Given the description of an element on the screen output the (x, y) to click on. 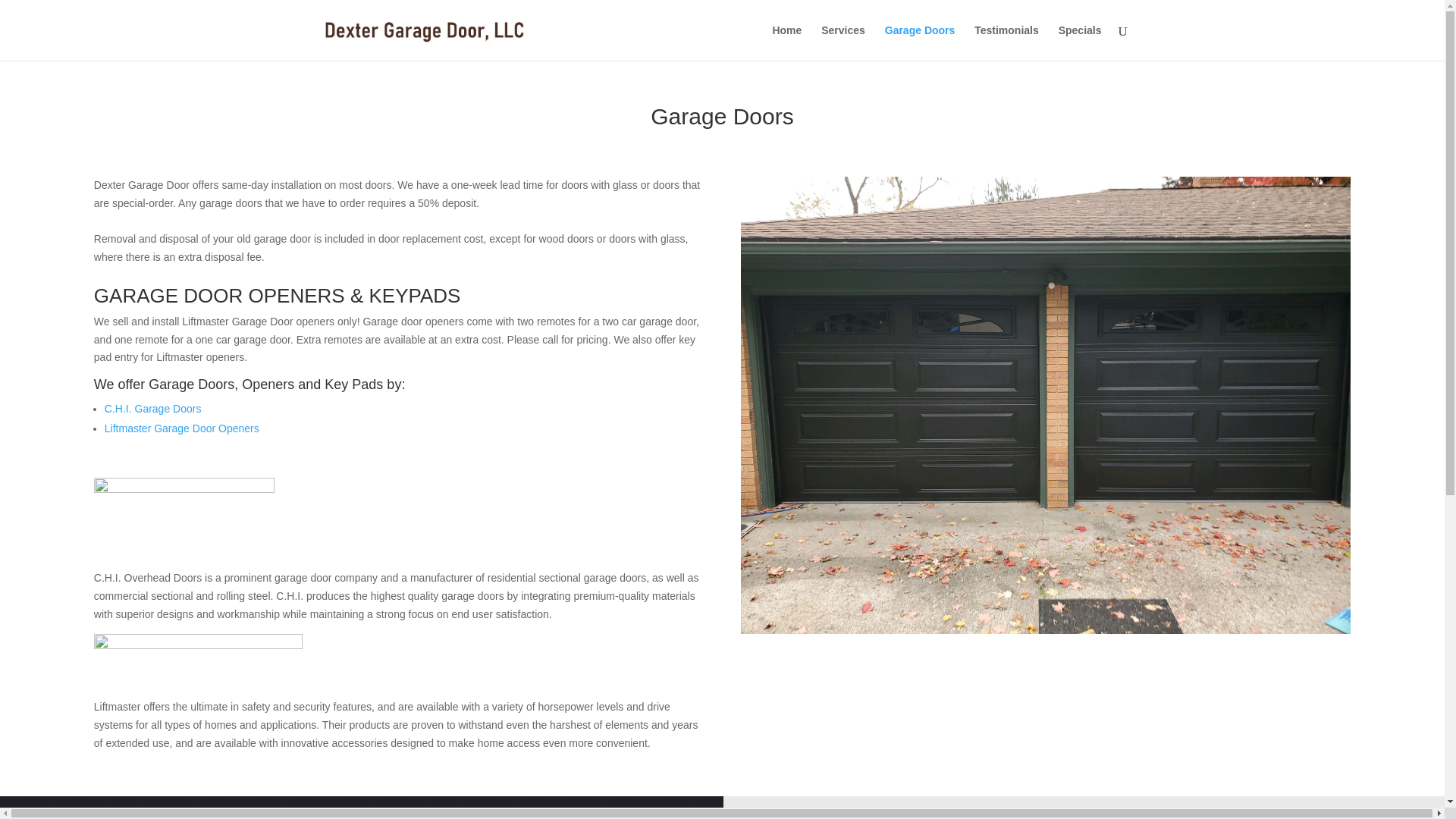
Testimonials (1006, 42)
Specials (1080, 42)
Ann-Arbor-Garage Doors (1046, 630)
Services (842, 42)
Garage Doors (920, 42)
Liftmaster Garage Door Openers (181, 428)
C.H.I. Garage Doors (153, 408)
